Given the description of an element on the screen output the (x, y) to click on. 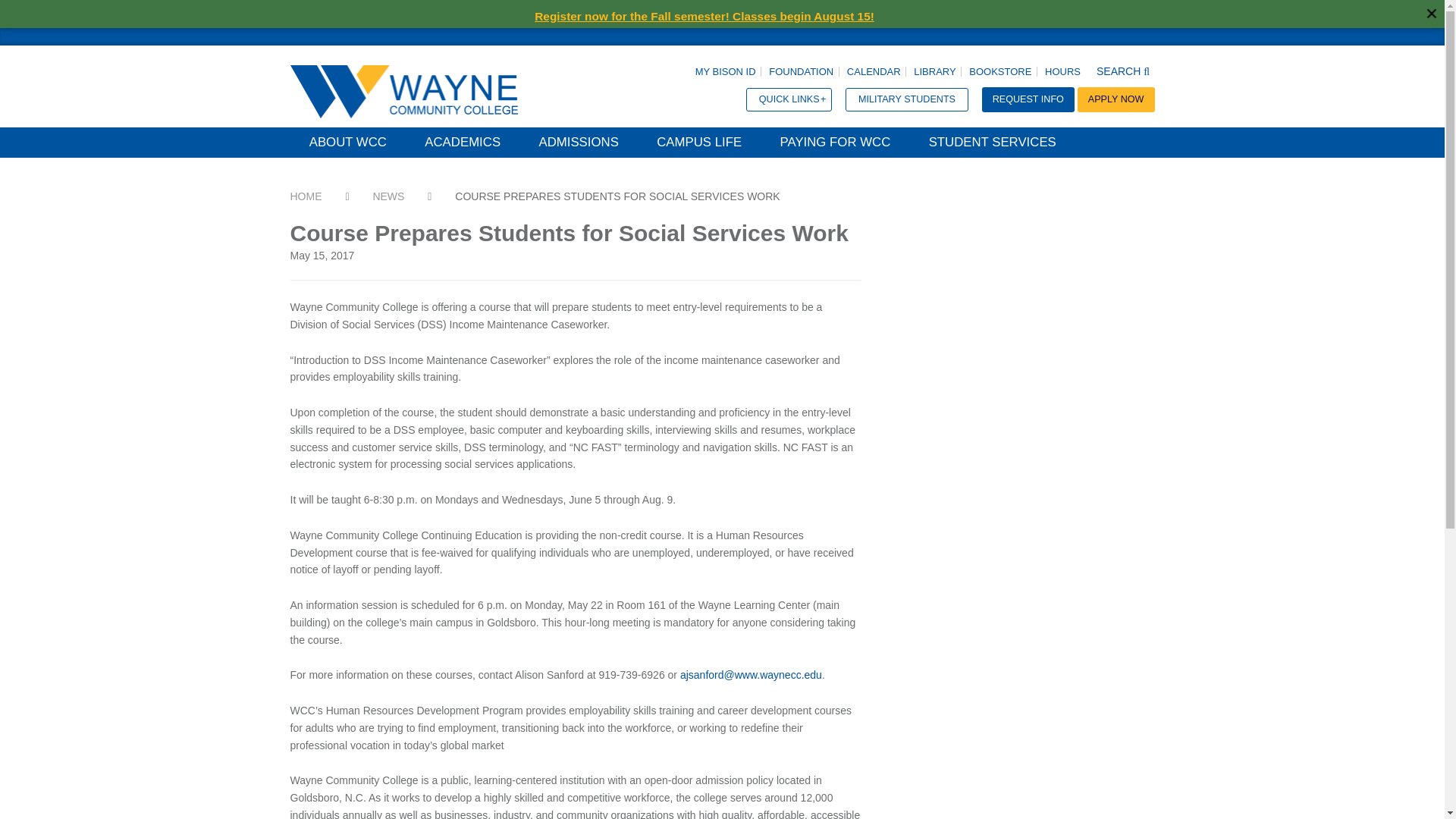
REQUEST INFO (1027, 98)
LIBRARY (934, 71)
STUDENT SERVICES (991, 142)
BOOKSTORE (999, 71)
HOURS (1063, 71)
PAYING FOR WCC (834, 142)
Home (305, 196)
FOUNDATION (801, 71)
CALENDAR (873, 71)
MY BISON ID (725, 71)
SEARCH (1123, 71)
ADMISSIONS (578, 142)
NEWS (388, 196)
HOME (305, 196)
MILITARY STUDENTS (906, 99)
